Given the description of an element on the screen output the (x, y) to click on. 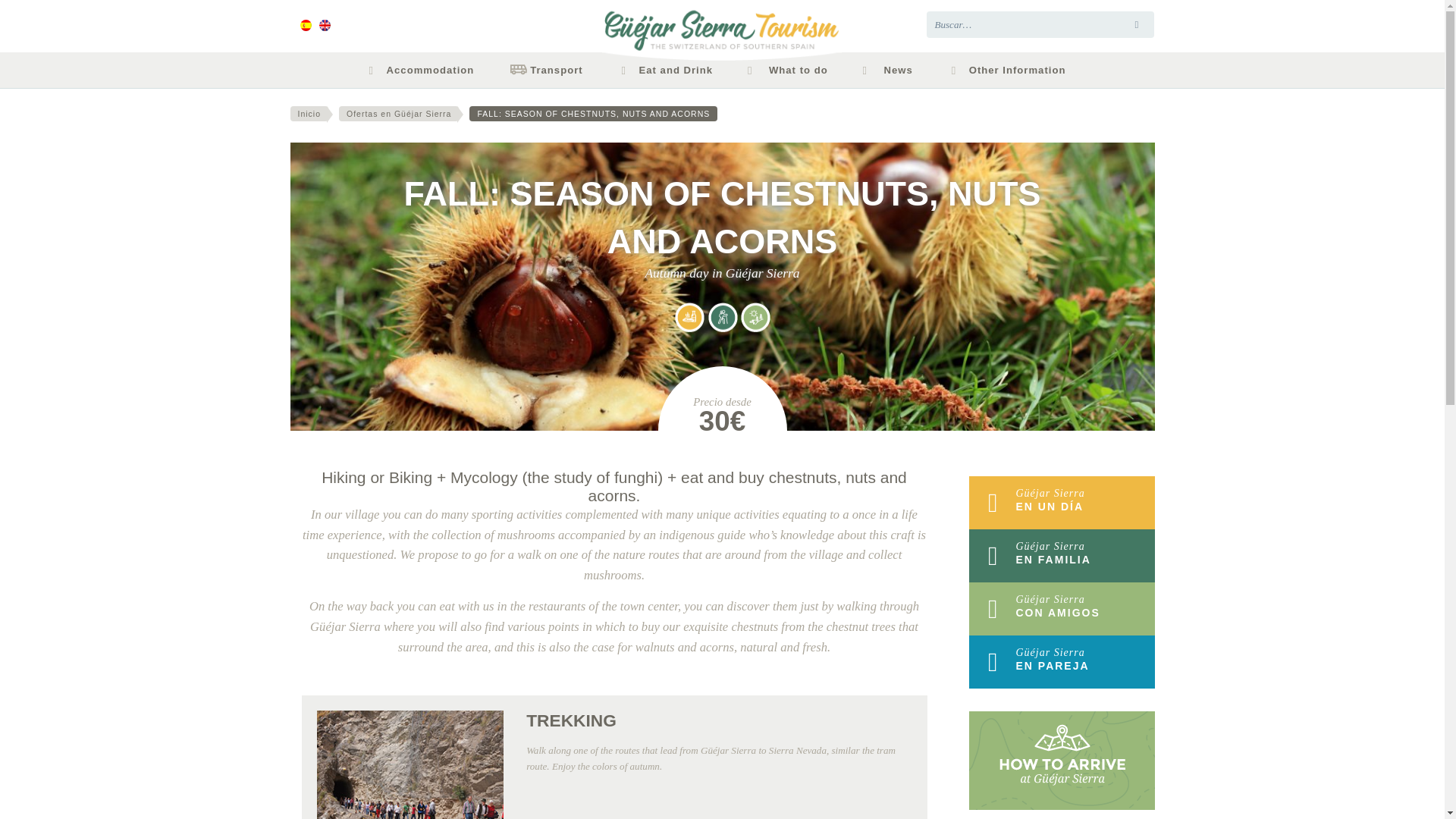
The Switzerland of Southern Spain (721, 24)
What to do (794, 69)
Eat and Drink (672, 69)
Accommodation (426, 69)
News (894, 69)
Other Information (1014, 69)
Inicio (309, 113)
Transport (552, 69)
